Given the description of an element on the screen output the (x, y) to click on. 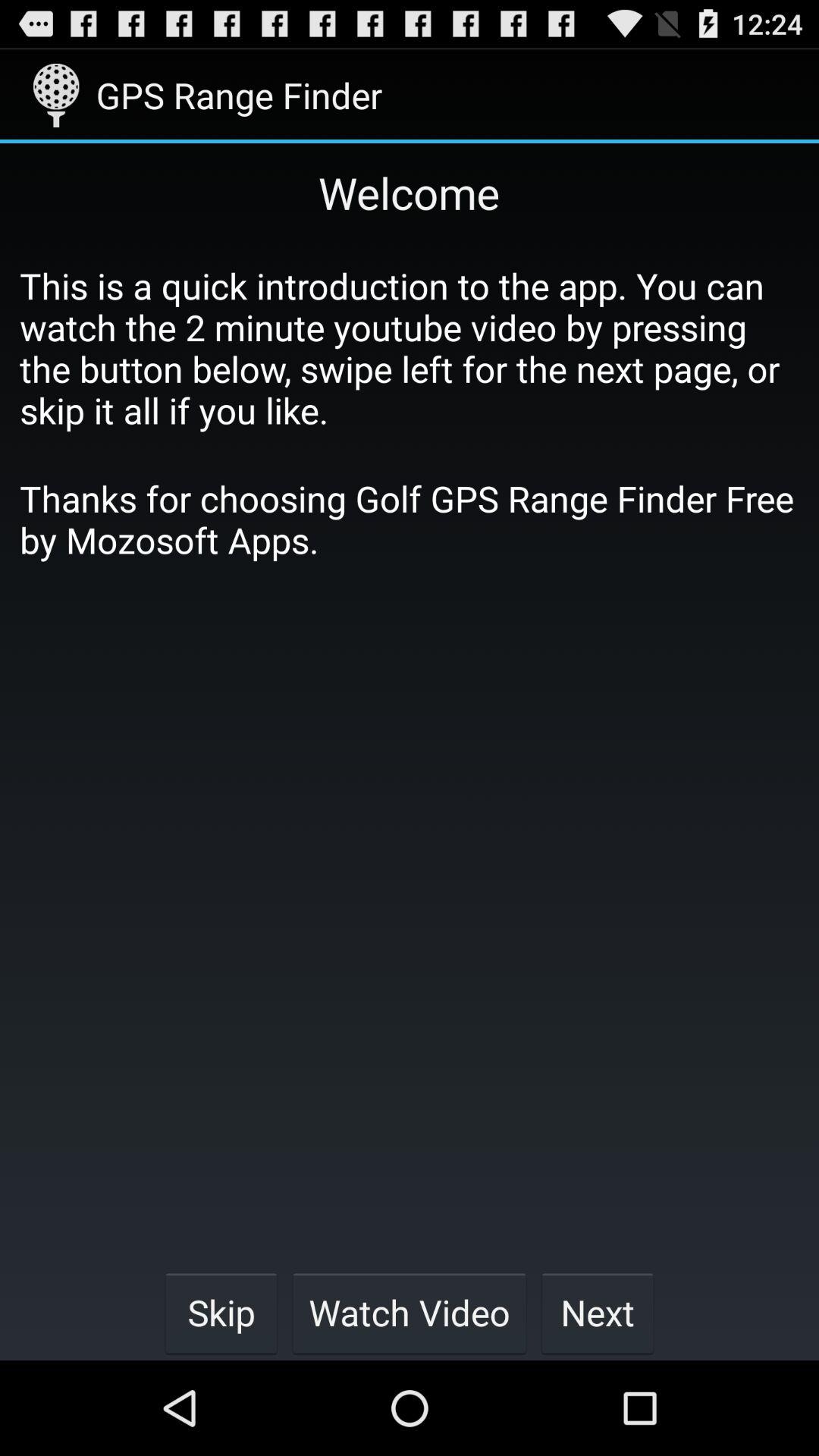
flip until skip button (220, 1312)
